Given the description of an element on the screen output the (x, y) to click on. 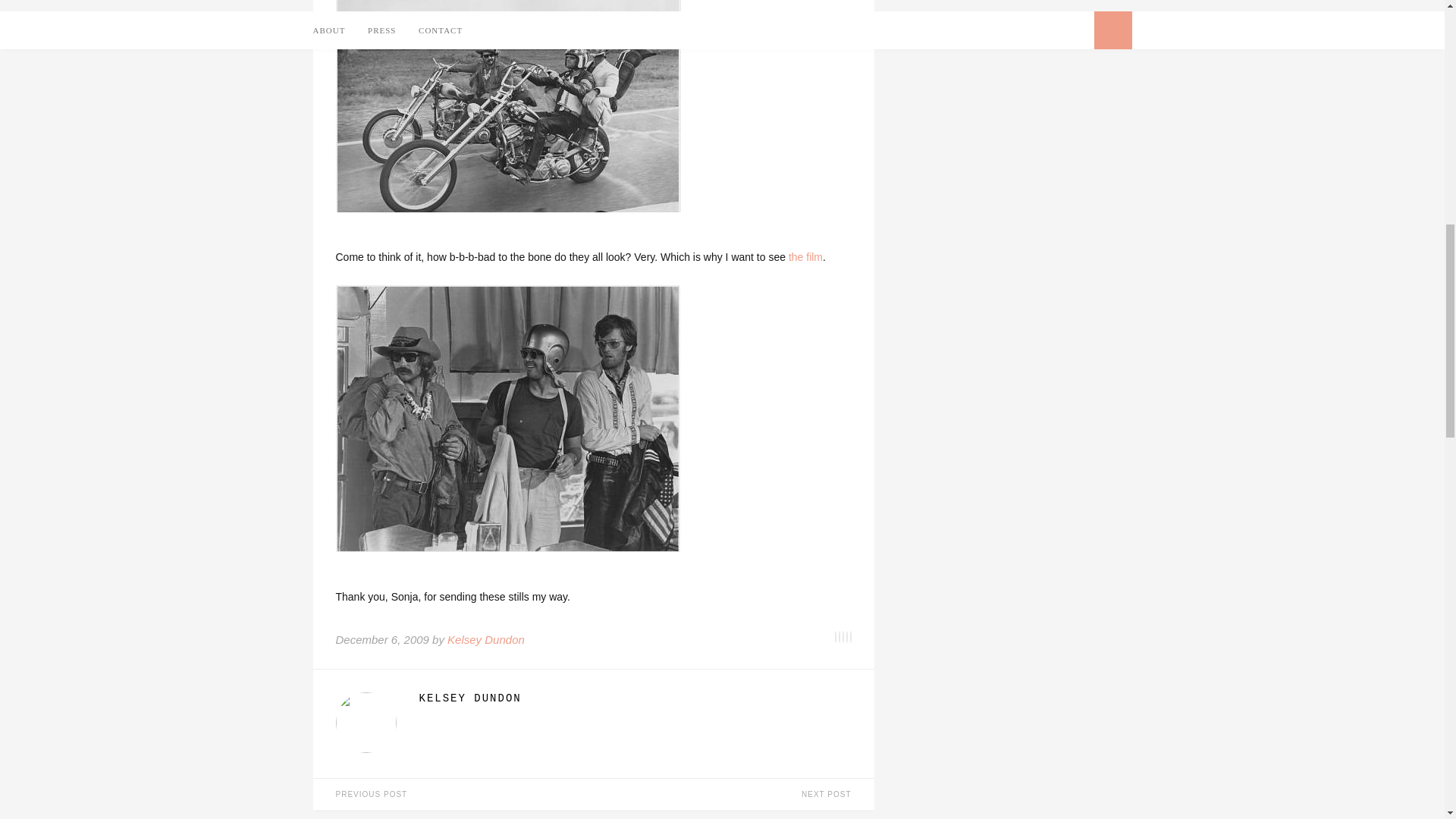
easy-rider-still (506, 418)
Posts by Kelsey Dundon (485, 639)
Posts by Kelsey Dundon (634, 698)
easy-rider-movie-still (506, 106)
NEXT POST (732, 793)
KELSEY DUNDON (634, 698)
Kelsey Dundon (485, 639)
PREVIOUS POST (452, 793)
the film (805, 256)
